Given the description of an element on the screen output the (x, y) to click on. 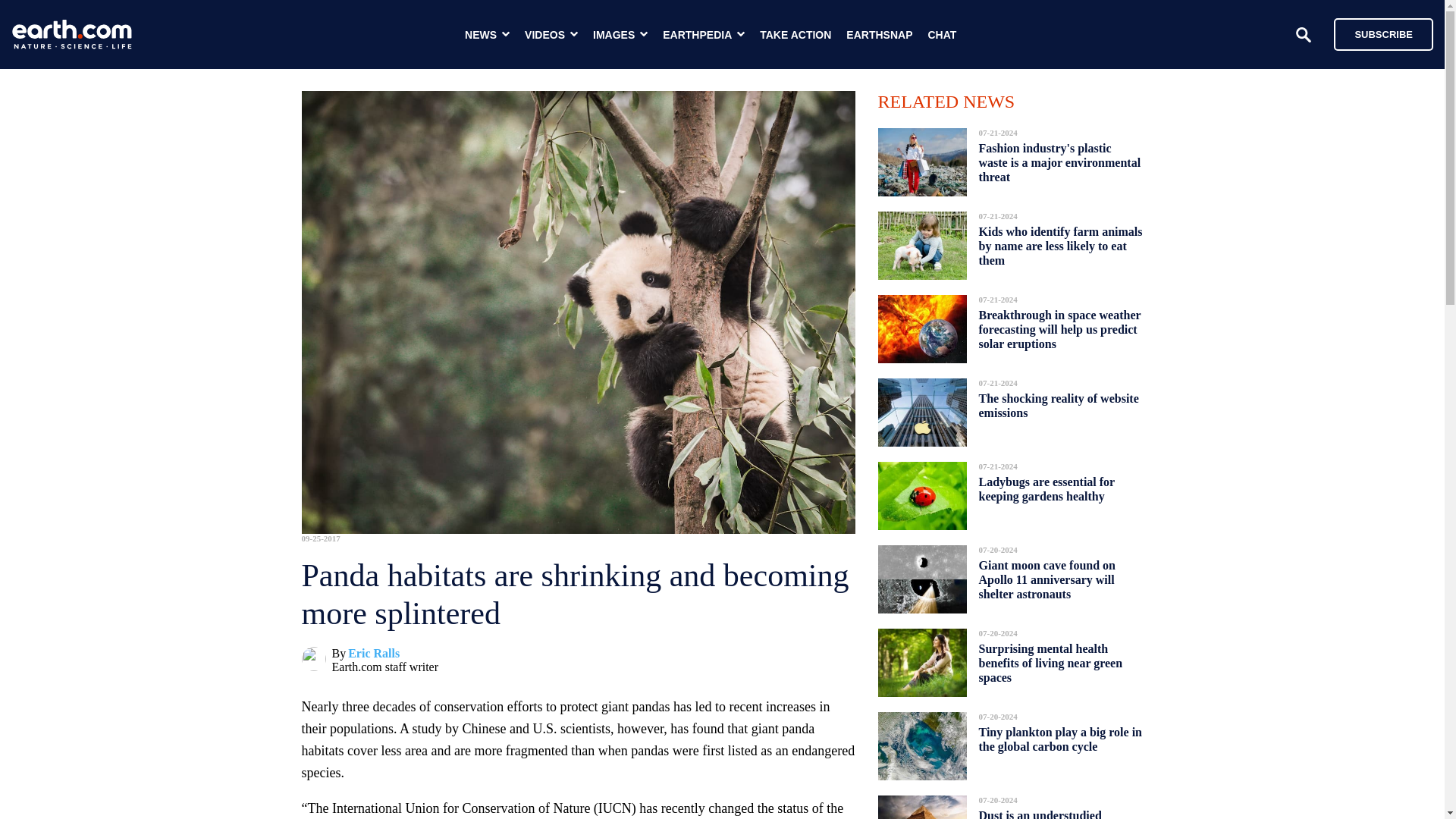
CHAT (941, 34)
SUBSCRIBE (1382, 34)
The shocking reality of website emissions (1058, 405)
SUBSCRIBE (1375, 33)
Ladybugs are essential for keeping gardens healthy (1045, 488)
EARTHSNAP (878, 34)
TAKE ACTION (795, 34)
Eric Ralls (372, 653)
Tiny plankton play a big role in the global carbon cycle (1059, 739)
Dust is an understudied contributor to climate change (1054, 810)
